Given the description of an element on the screen output the (x, y) to click on. 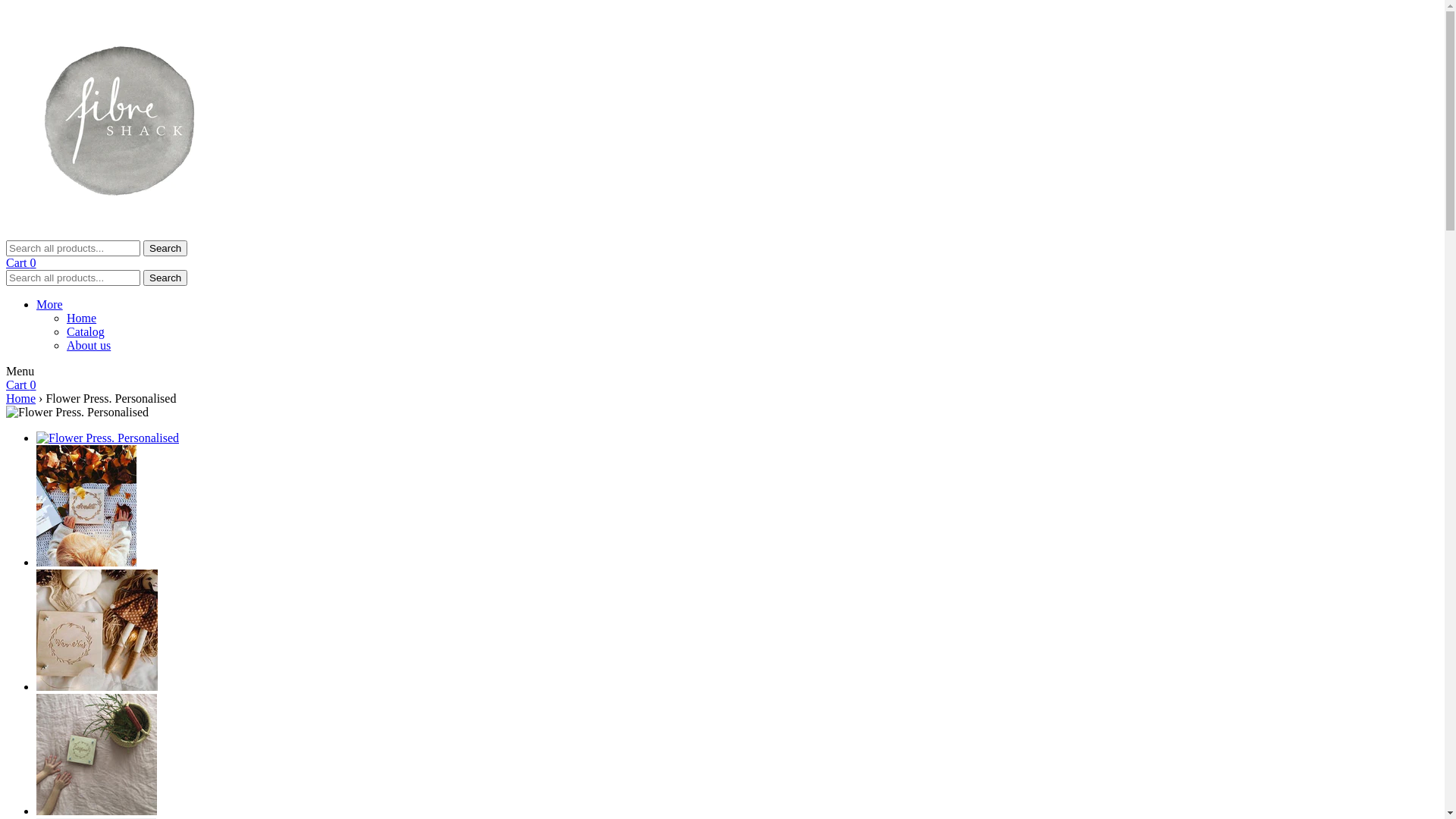
Search Element type: text (165, 248)
Catalog Element type: text (85, 331)
Home Element type: text (20, 398)
More Element type: text (49, 304)
Cart 0 Element type: text (21, 384)
About us Element type: text (88, 344)
Search Element type: text (165, 277)
Home Element type: text (81, 317)
Cart 0 Element type: text (21, 262)
Menu Element type: text (20, 370)
